Given the description of an element on the screen output the (x, y) to click on. 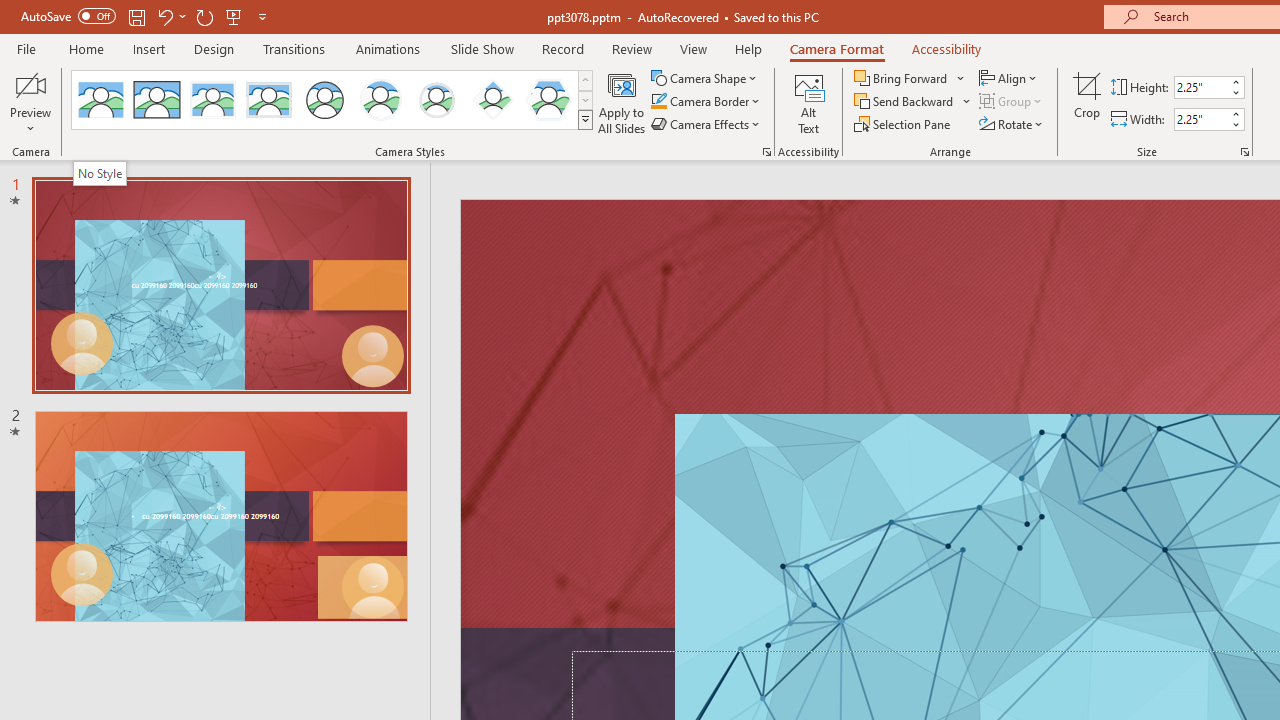
Group (1012, 101)
Soft Edge Rectangle (268, 100)
Cameo Height (1201, 87)
Enable Camera Preview (30, 84)
Apply to All Slides (621, 102)
Camera Border (706, 101)
